Given the description of an element on the screen output the (x, y) to click on. 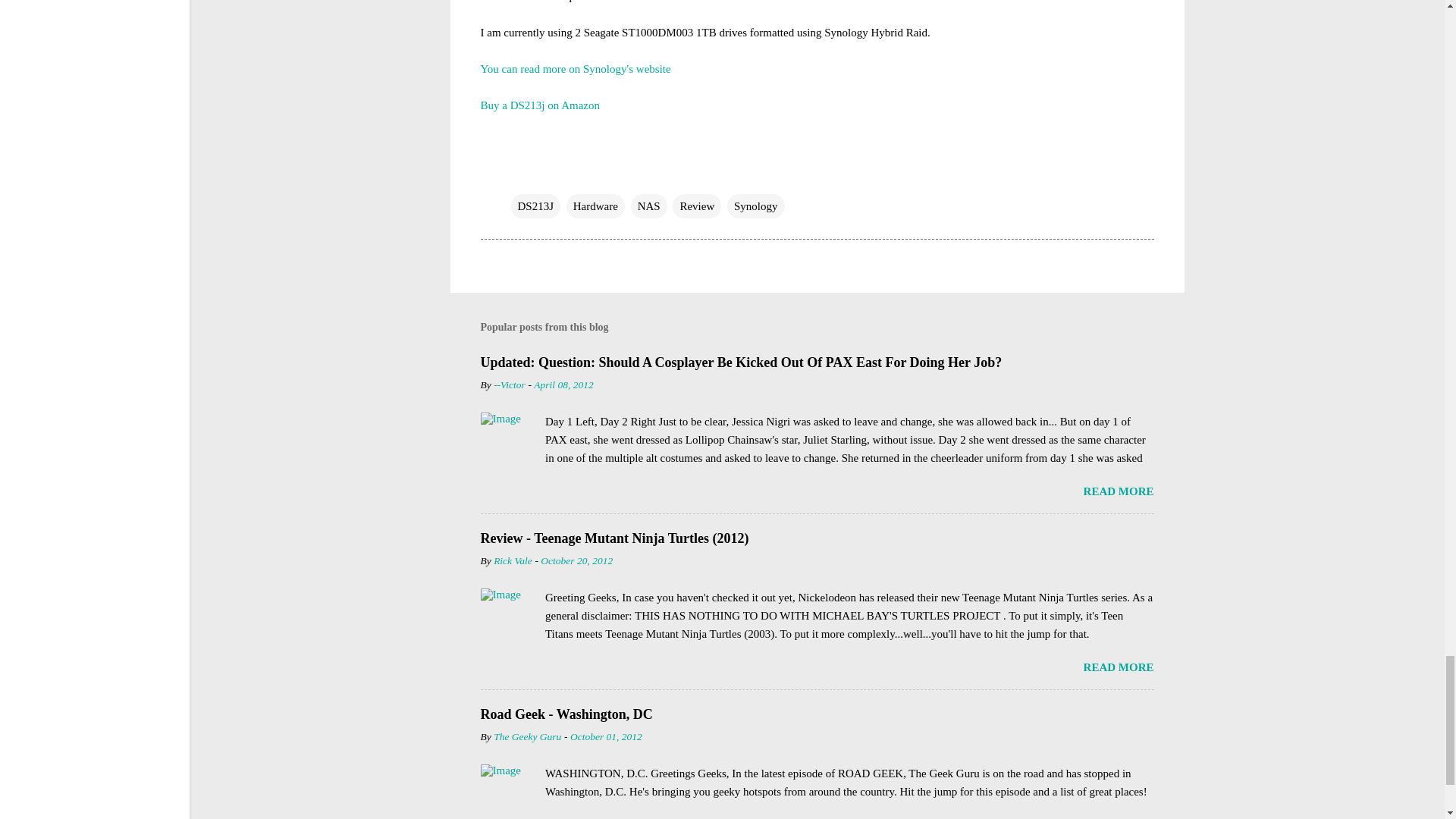
Email Post (520, 175)
Buy a DS213j on Amazon (539, 104)
--Victor (509, 384)
DS213J (535, 206)
Review (696, 206)
NAS (648, 206)
You can read more on Synology's website (575, 68)
Synology (755, 206)
Hardware (595, 206)
